Given the description of an element on the screen output the (x, y) to click on. 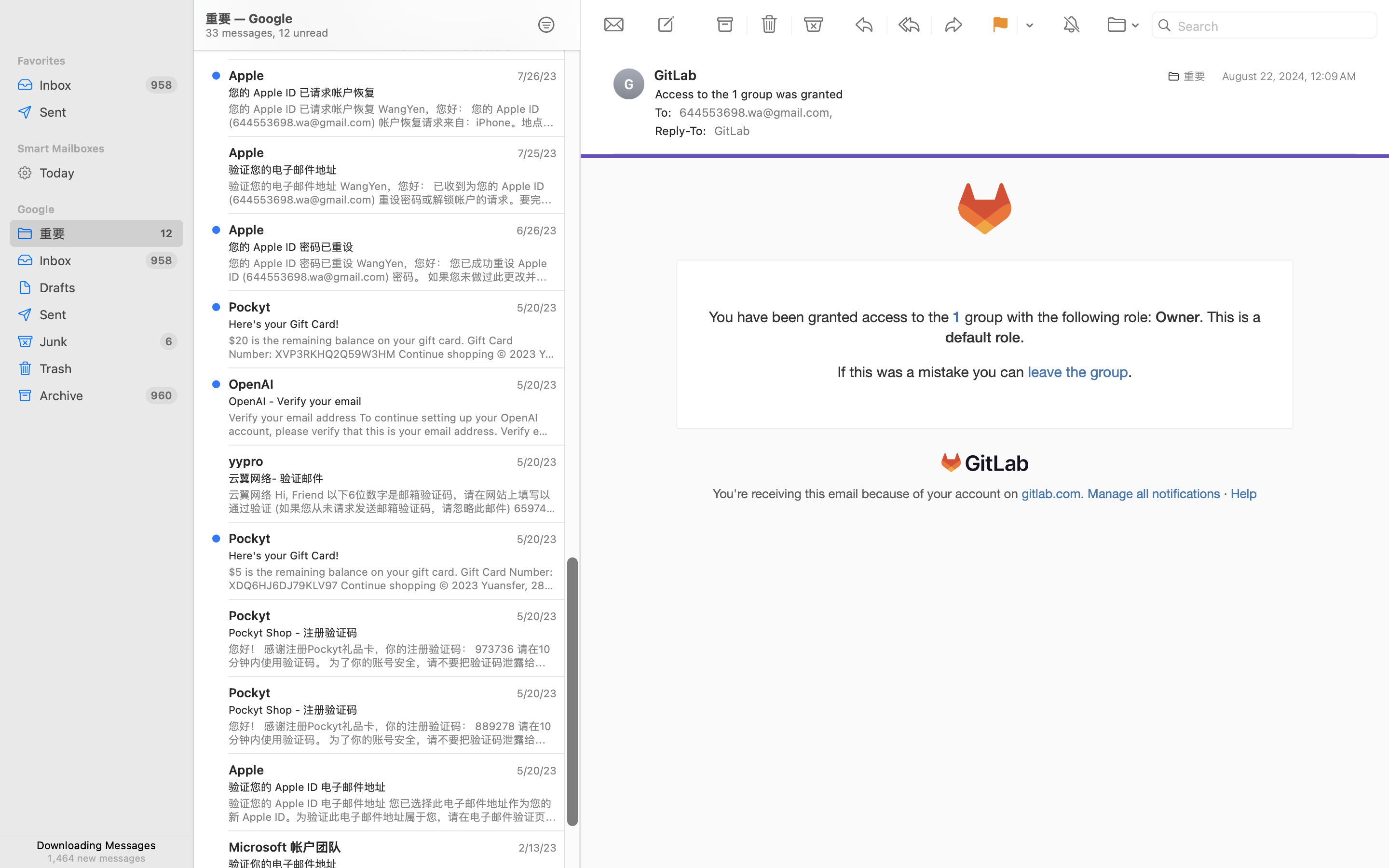
2/13/23 Element type: AXStaticText (536, 847)
Help Element type: AXStaticText (1243, 493)
You have been granted access to the Element type: AXStaticText (830, 316)
0.9271523178807947 Element type: AXValueIndicator (571, 691)
￼重要 Element type: AXStaticText (1183, 75)
